Given the description of an element on the screen output the (x, y) to click on. 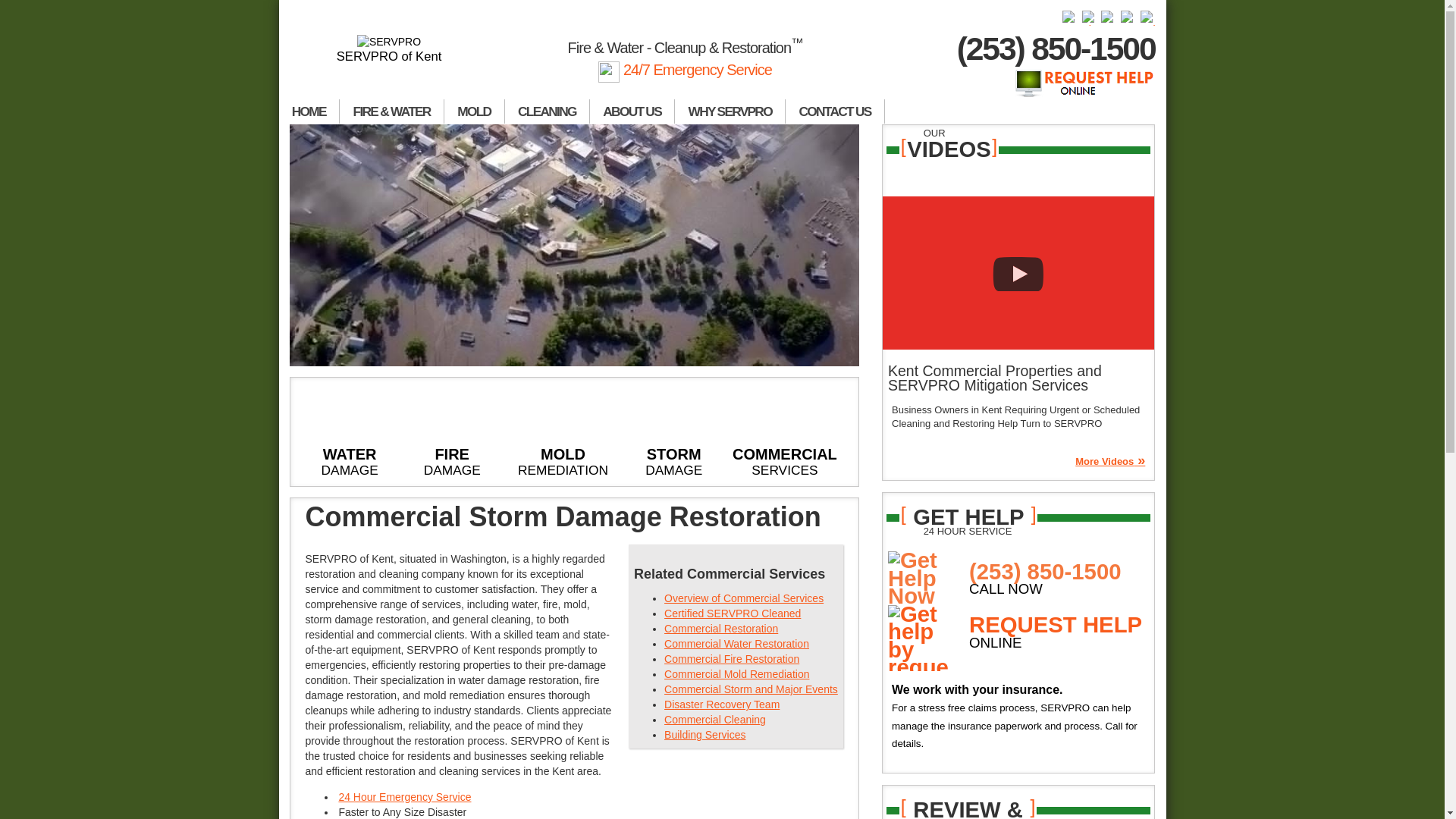
SERVPRO of Kent (389, 49)
CLEANING (547, 111)
MOLD (474, 111)
HOME (309, 111)
ABOUT US (632, 111)
